Given the description of an element on the screen output the (x, y) to click on. 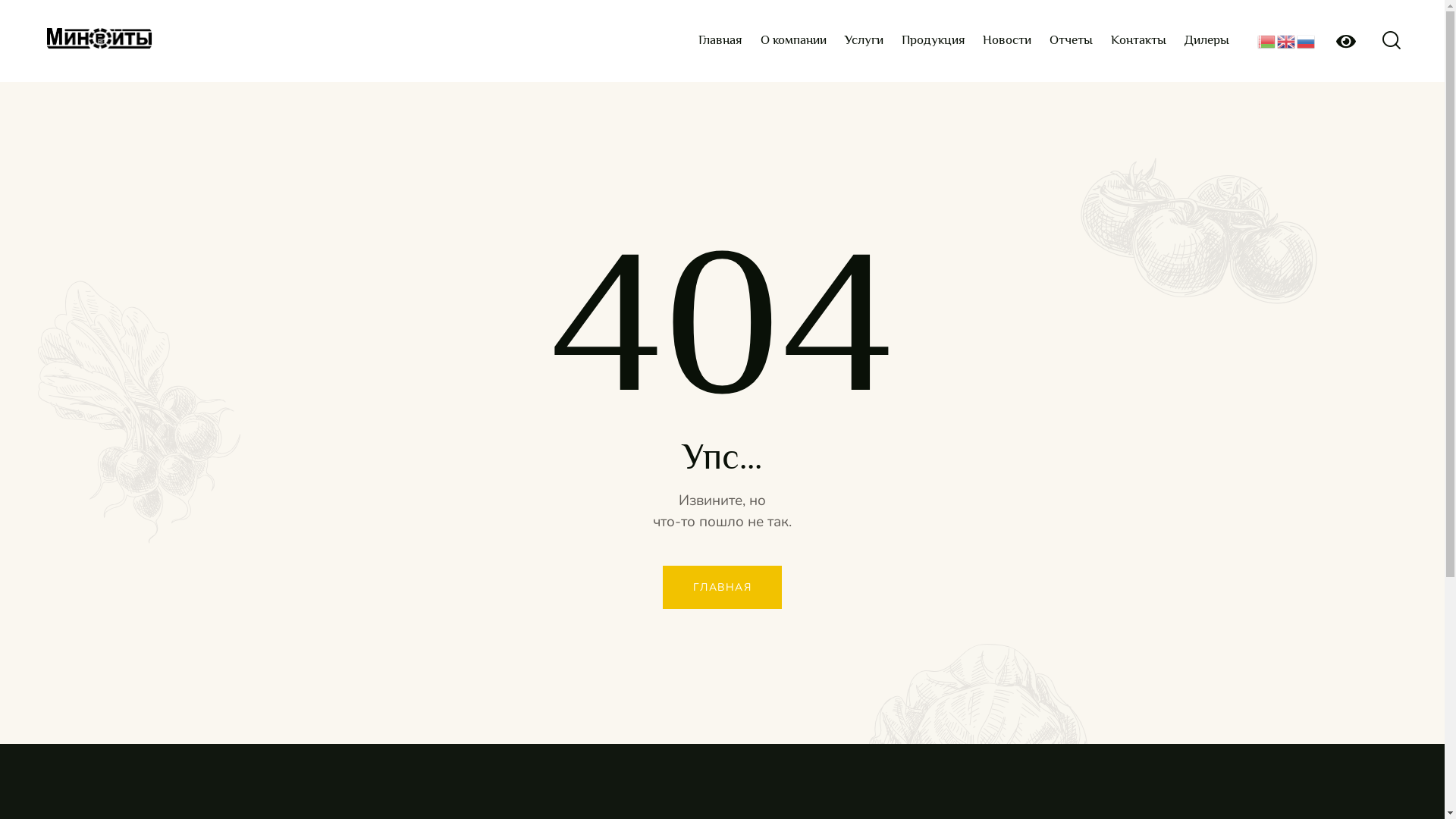
Russian Element type: hover (1306, 40)
Belarusian Element type: hover (1267, 40)
English Element type: hover (1286, 40)
